Given the description of an element on the screen output the (x, y) to click on. 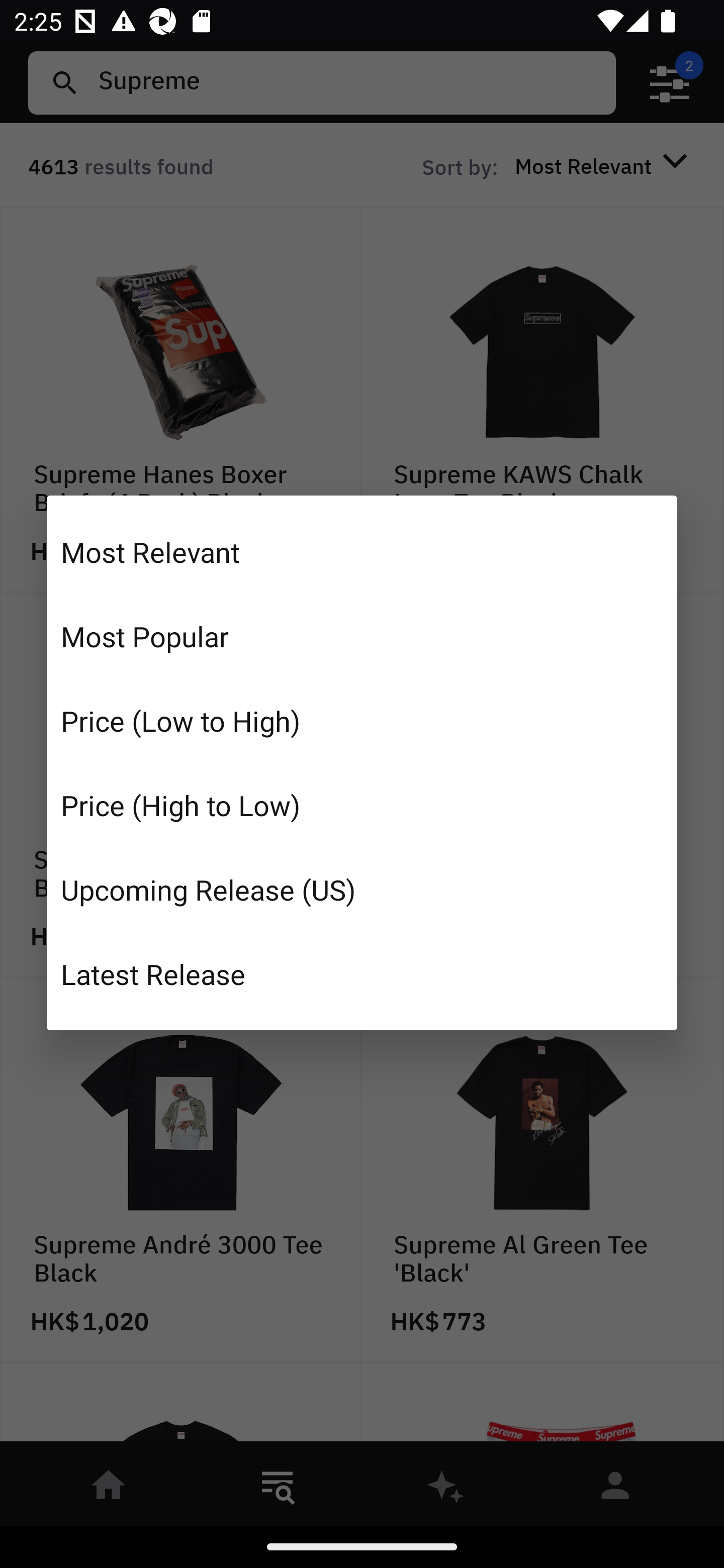
Most Relevant (361, 551)
Most Popular (361, 636)
Price (Low to High) (361, 720)
Price (High to Low) (361, 804)
Upcoming Release (US) (361, 888)
Latest Release (361, 973)
